Given the description of an element on the screen output the (x, y) to click on. 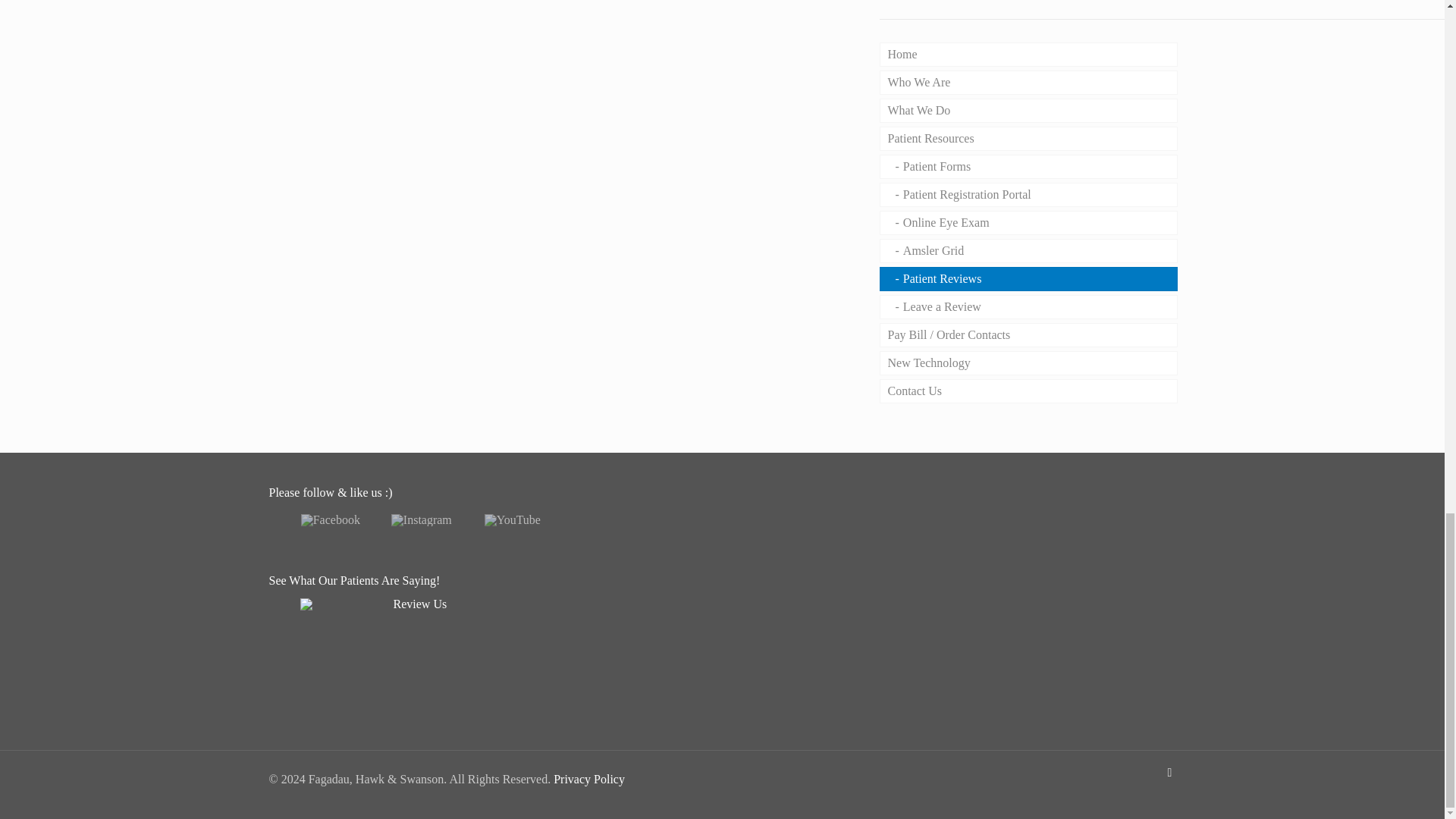
Instagram (421, 520)
Facebook (330, 520)
YouTube (512, 520)
